Given the description of an element on the screen output the (x, y) to click on. 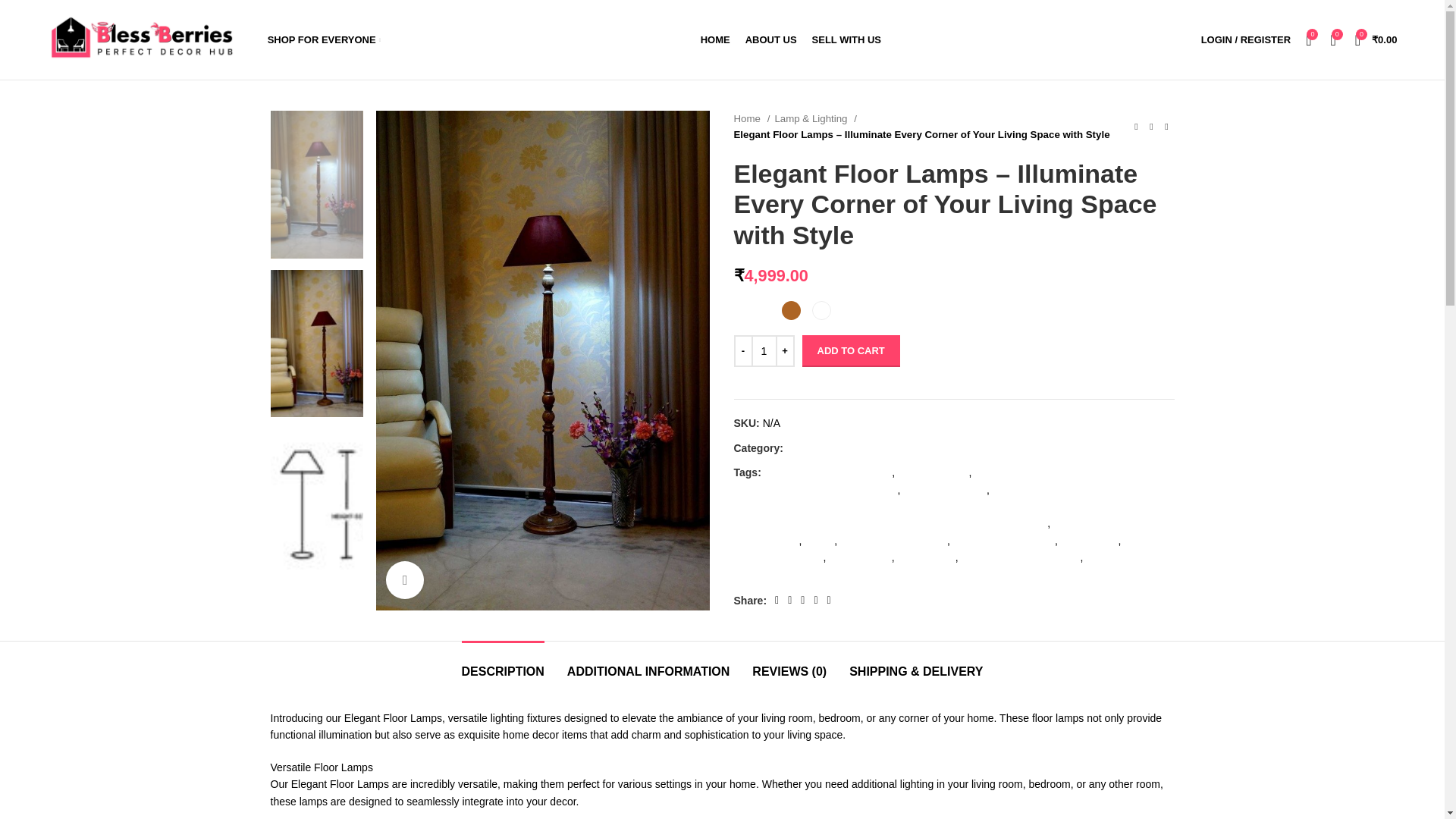
ABOUT US (770, 39)
Home (751, 118)
SELL WITH US (846, 39)
Shopping cart (1376, 39)
HOME (715, 39)
My account (1245, 39)
SHOP FOR EVERYONE (323, 39)
